Given the description of an element on the screen output the (x, y) to click on. 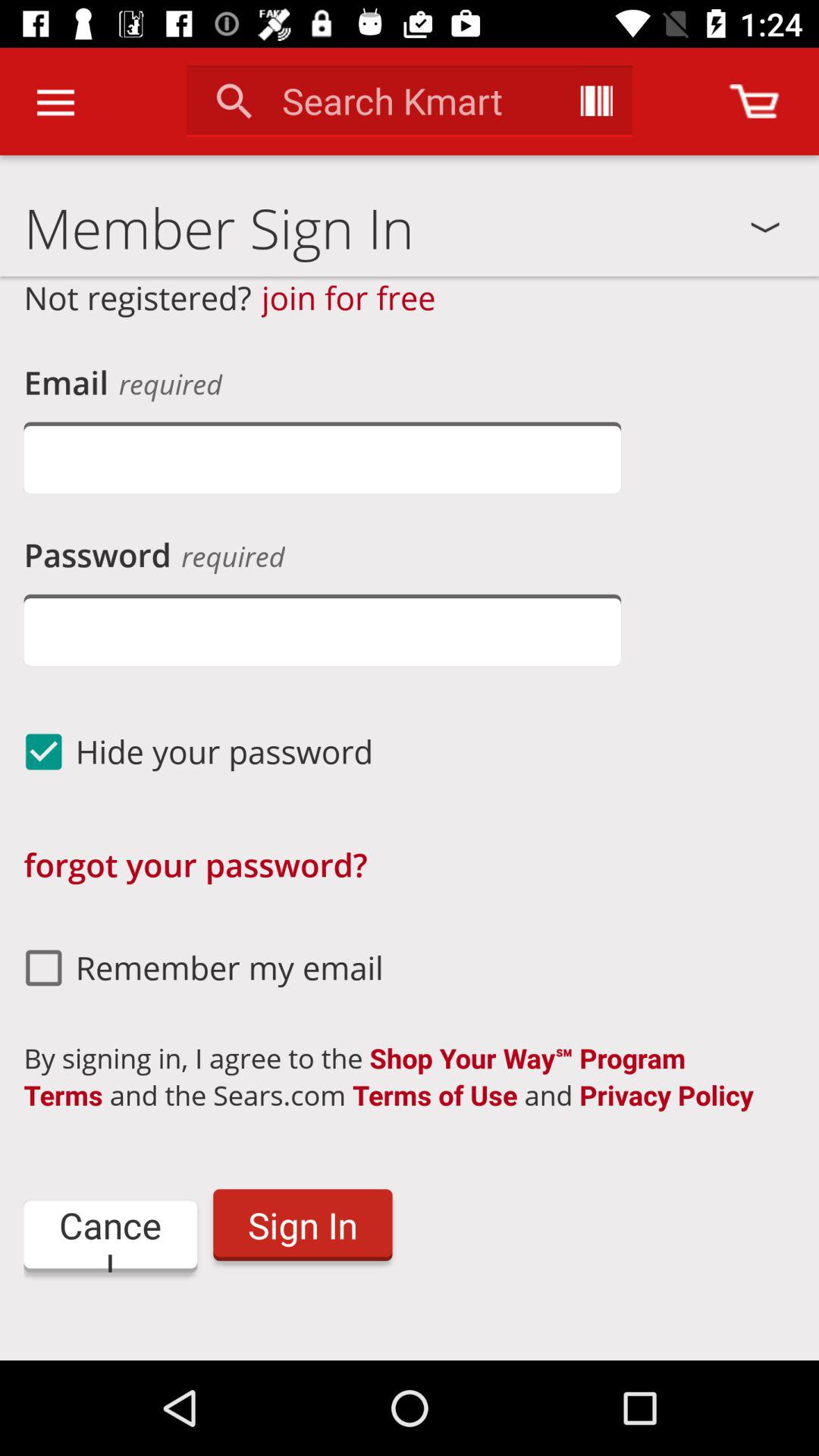
select the text above the sign in option (401, 1076)
